Given the description of an element on the screen output the (x, y) to click on. 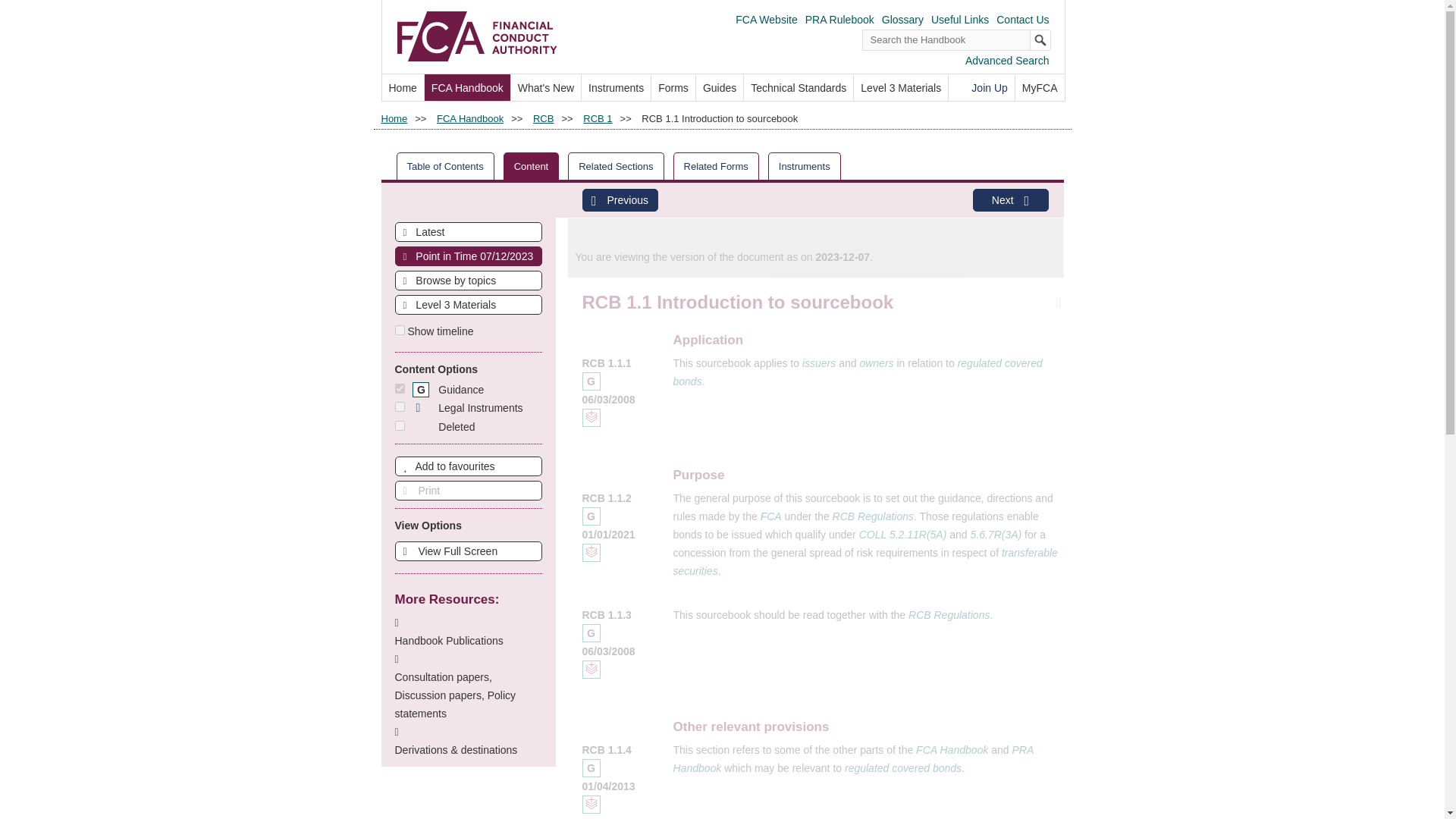
Forms (672, 87)
Toggle Legal instrument indicators on and off (399, 406)
RCB (542, 118)
Toggle guidance sections on and off (447, 389)
Home (402, 87)
FCA Handbook (469, 118)
Next (1010, 200)
Level 3 Materials (900, 87)
Instruments (615, 87)
View the latest news, updates and changes (545, 87)
